Given the description of an element on the screen output the (x, y) to click on. 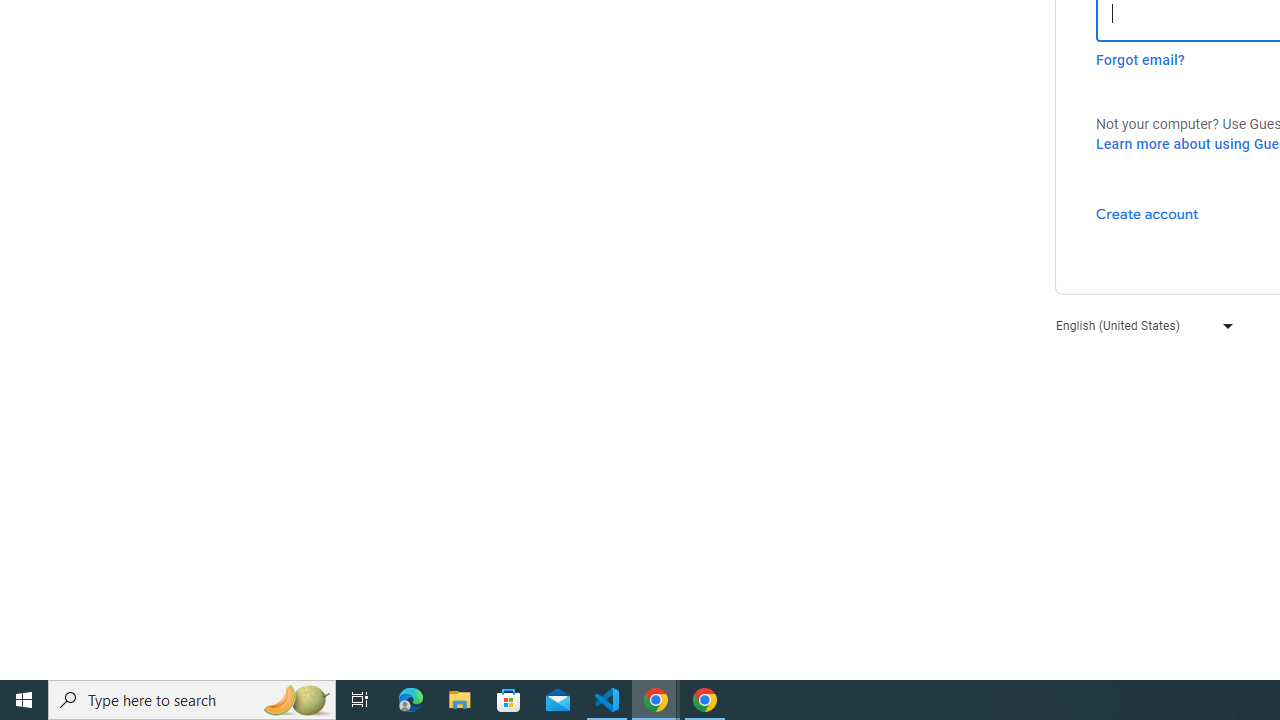
Forgot email? (1140, 59)
English (United States) (1139, 324)
Create account (1146, 213)
